Given the description of an element on the screen output the (x, y) to click on. 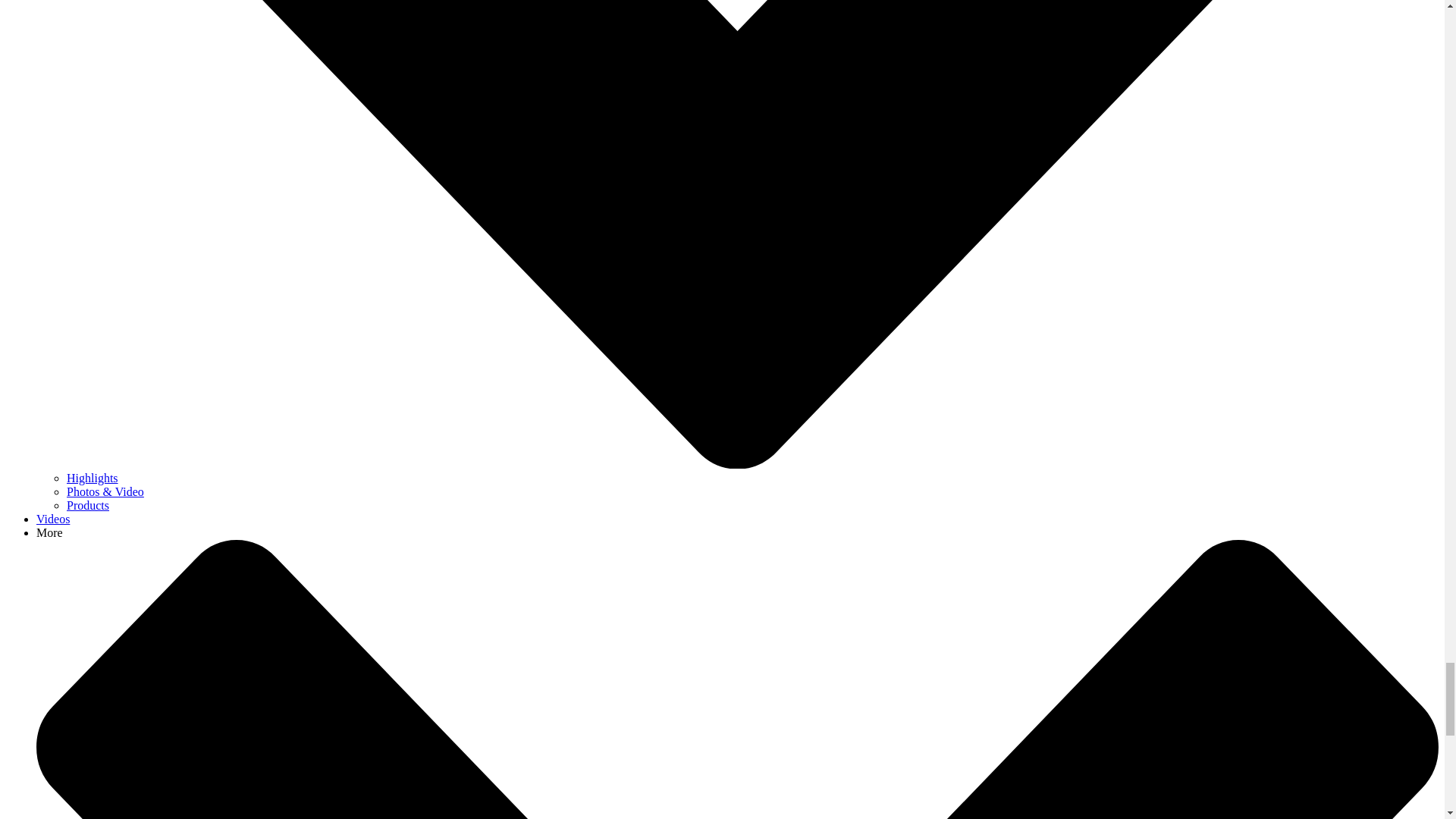
More (49, 532)
Videos (52, 518)
Products (87, 504)
Highlights (91, 477)
